Given the description of an element on the screen output the (x, y) to click on. 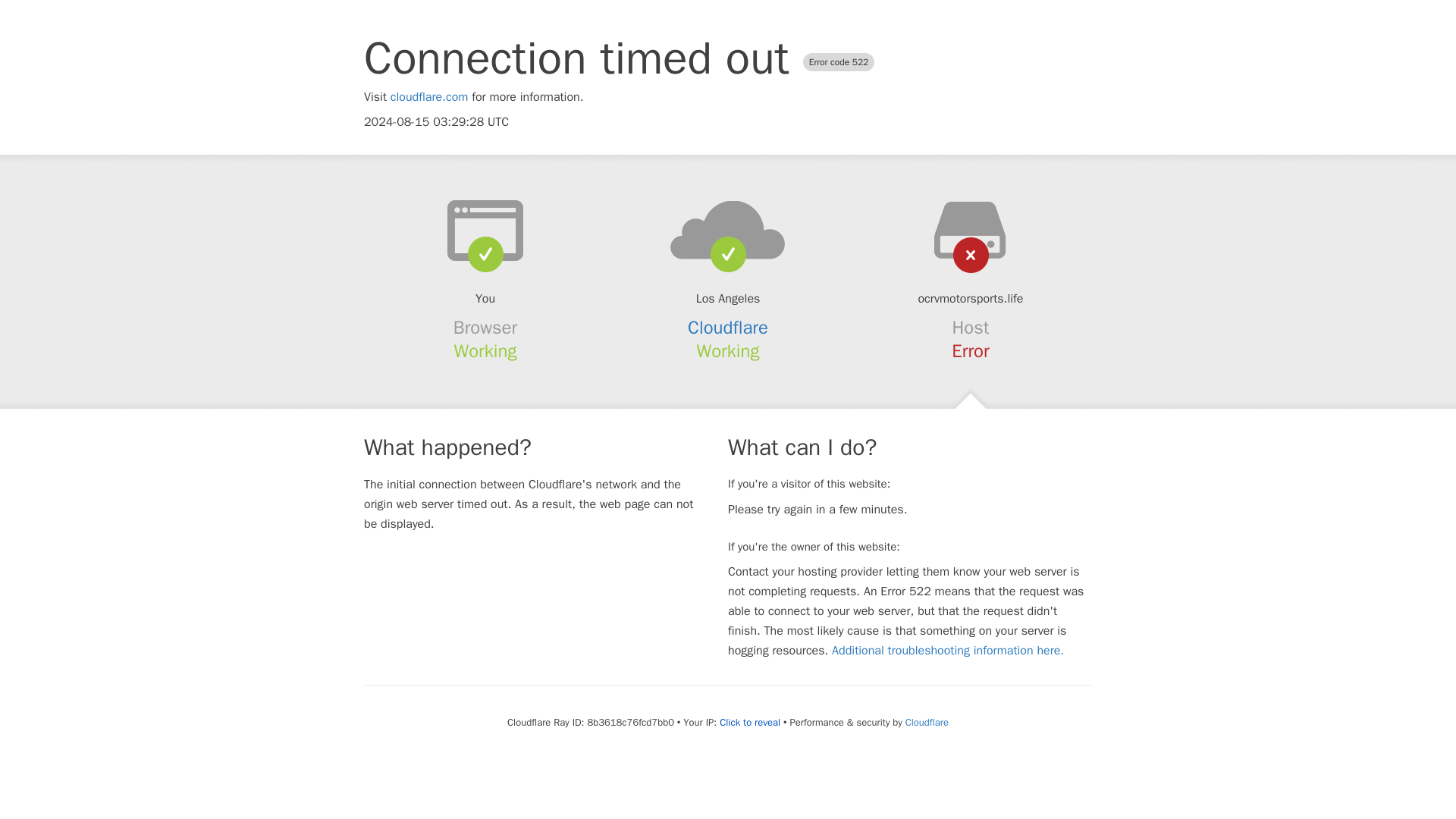
Click to reveal (749, 722)
Additional troubleshooting information here. (947, 650)
Cloudflare (727, 327)
Cloudflare (927, 721)
cloudflare.com (429, 96)
